Given the description of an element on the screen output the (x, y) to click on. 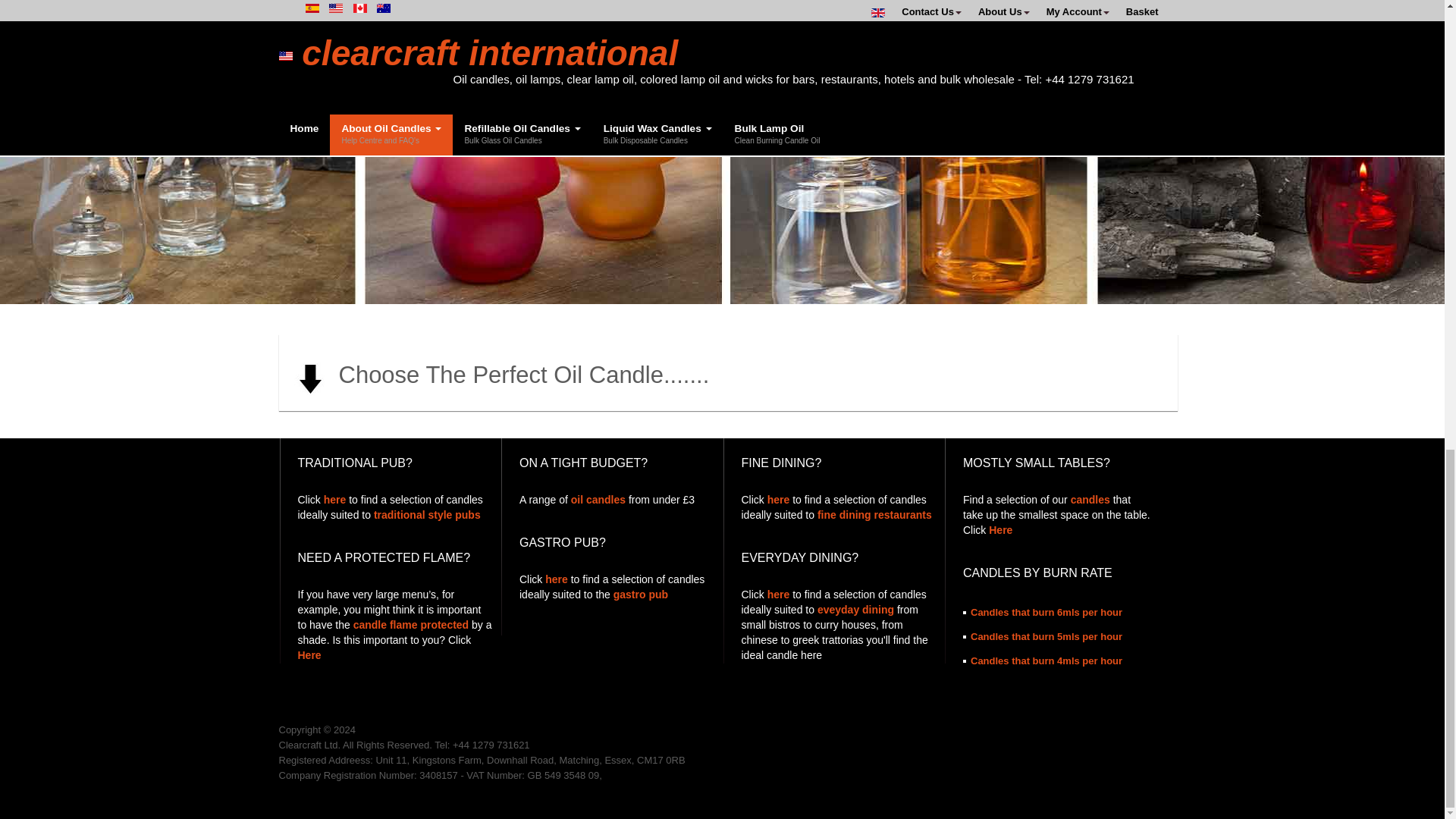
Glass Oil Candles suitable for the Everyday Dining (854, 609)
Glass Oil Candles suitable for the Gastro Pub (555, 579)
Glass Oil Candles suitable for Everyday Dining (778, 594)
Glass Oil Candles suitable for the Traditional Style Pubs (427, 514)
Glass Oil Candles suitable for the Traditional Pub (334, 499)
Glass Oil Candles suitable for Fine Dining (778, 499)
Glass Oil Candles suitable for fine dining restaurants (873, 514)
Protected Oil Candles (410, 624)
Glass Oil Candles on a Budget (598, 499)
Glass Oil Candles suitable for the Gastro Pub (640, 594)
Protected Flame Candles (308, 654)
